Given the description of an element on the screen output the (x, y) to click on. 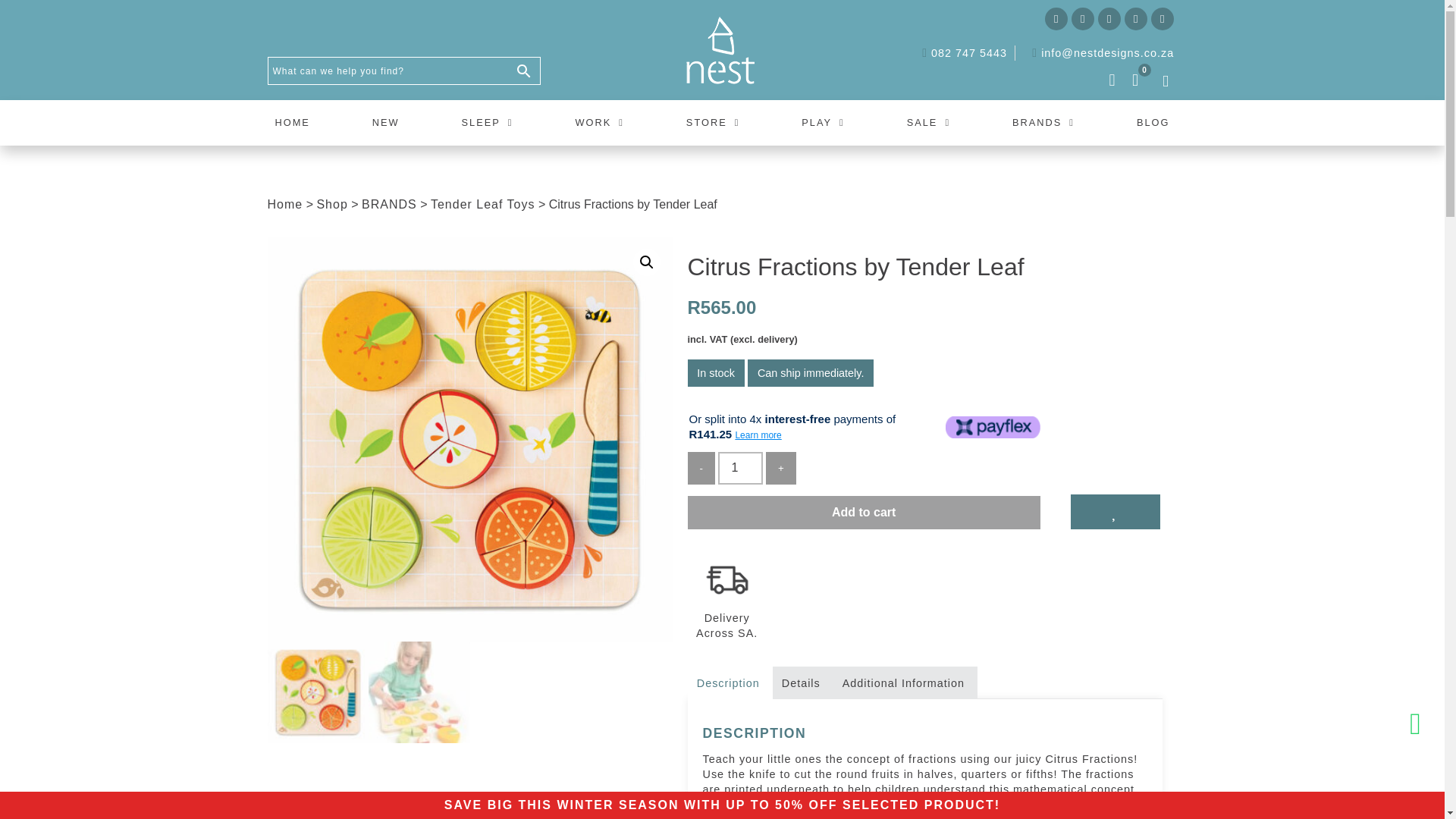
HOME (291, 122)
WORK (599, 122)
NEW (385, 122)
1 (739, 468)
0 (1135, 81)
SLEEP (487, 122)
082 747 5443 (959, 52)
STORE (712, 122)
